Given the description of an element on the screen output the (x, y) to click on. 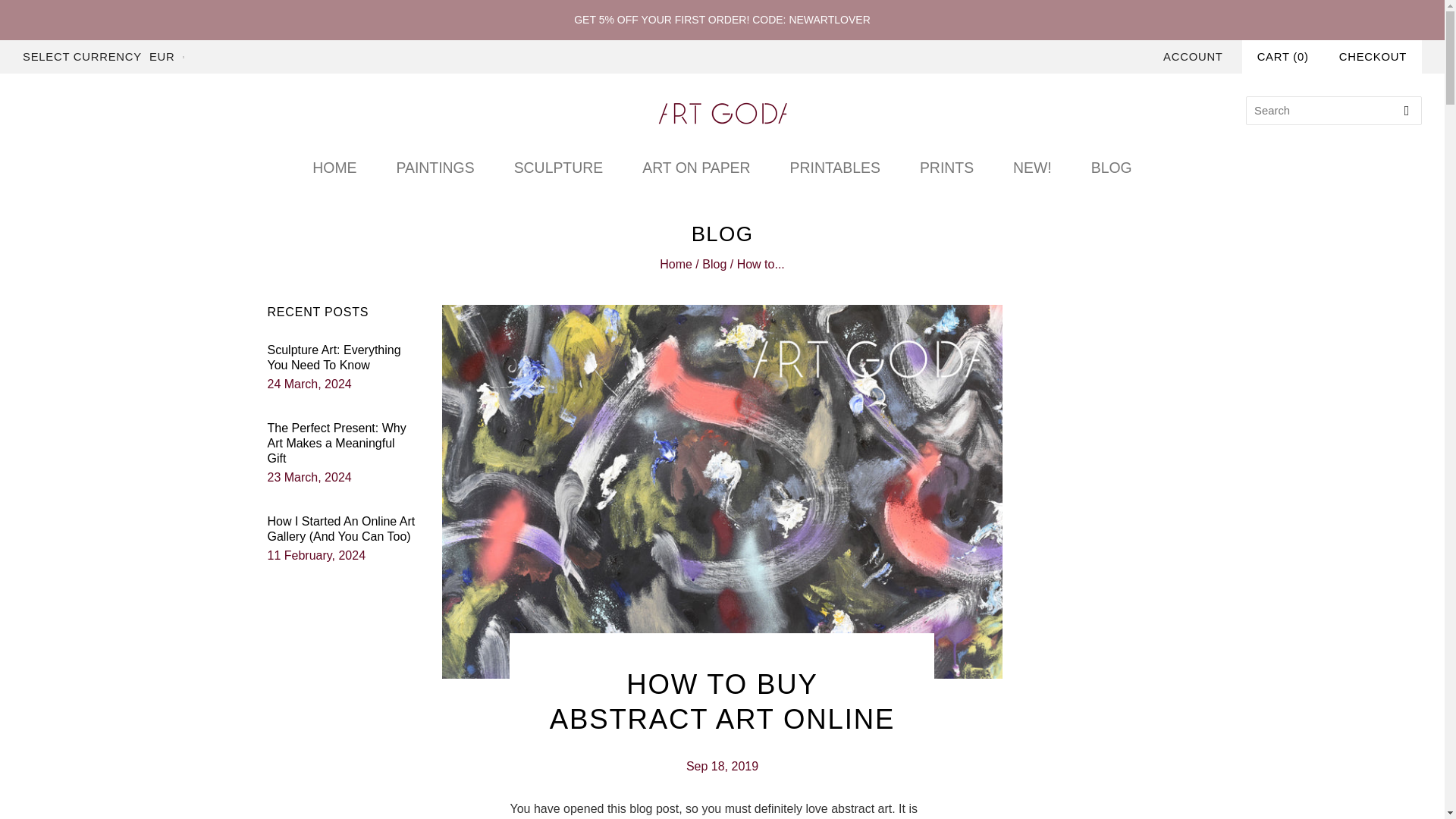
SCULPTURE (559, 167)
ACCOUNT (1193, 56)
24 March, 2024 (308, 383)
PRINTS (945, 167)
ART ON PAPER (696, 167)
PAINTINGS (434, 167)
BLOG (1111, 167)
Blog (713, 264)
CHECKOUT (1372, 56)
23 March, 2024 (308, 477)
